Given the description of an element on the screen output the (x, y) to click on. 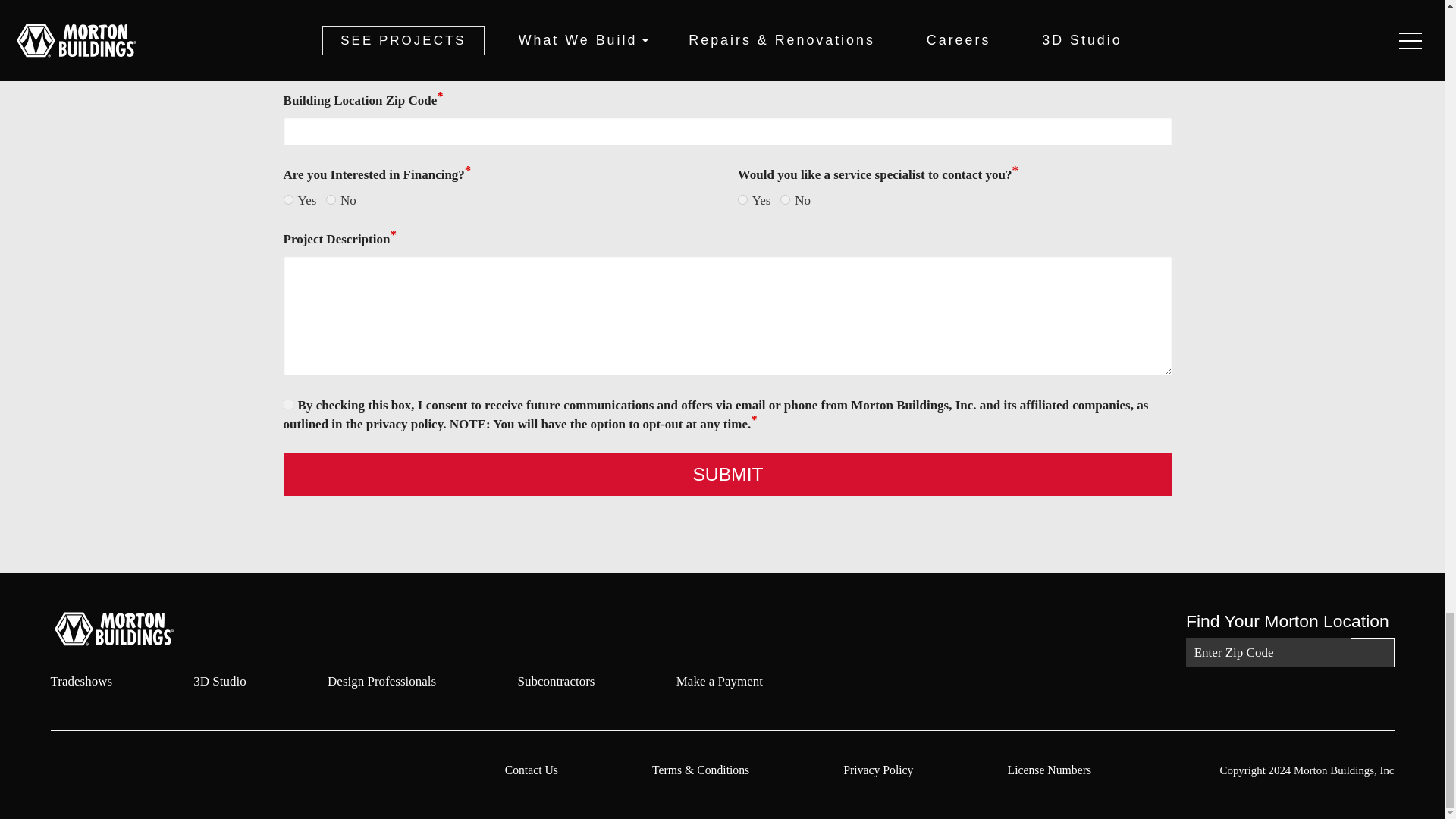
yes (288, 404)
2 (331, 199)
1 (743, 199)
1 (288, 199)
wordmark (134, 628)
2 (785, 199)
